Given the description of an element on the screen output the (x, y) to click on. 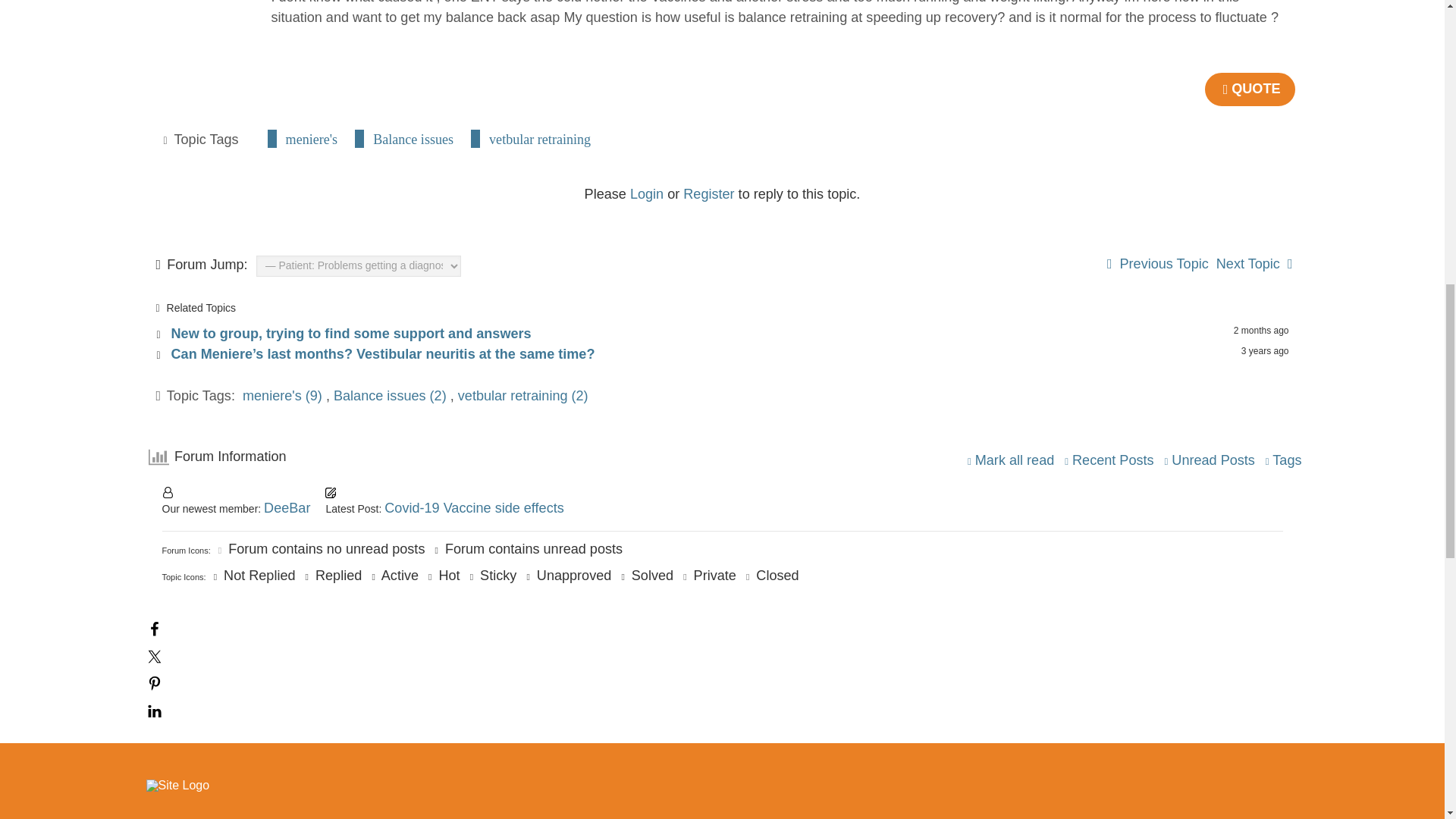
meniere's (311, 138)
Balance issues (412, 138)
Register (707, 193)
  Previous Topic (1157, 263)
vetbular retraining (539, 138)
Next Topic   (1253, 263)
Login (646, 193)
